Given the description of an element on the screen output the (x, y) to click on. 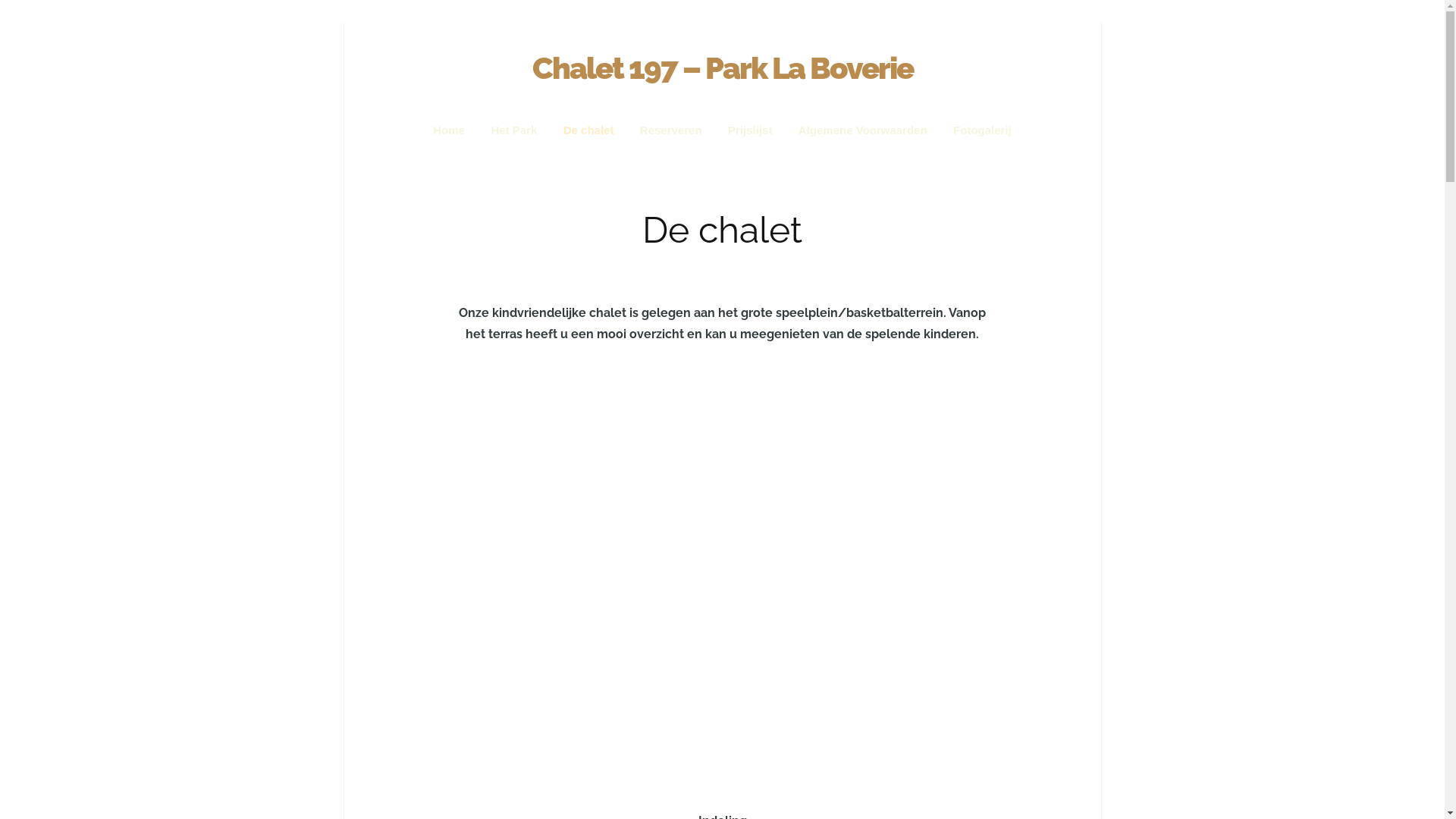
Naar de inhoud springen Element type: text (787, 129)
YouTube video player Element type: hover (721, 574)
Zoeken Element type: text (34, 16)
Prijslijst Element type: text (749, 129)
De chalet Element type: text (588, 129)
Fotogalerij Element type: text (981, 129)
Het Park Element type: text (513, 129)
Algemene Voorwaarden Element type: text (862, 129)
Reserveren Element type: text (670, 129)
Home Element type: text (448, 129)
